Given the description of an element on the screen output the (x, y) to click on. 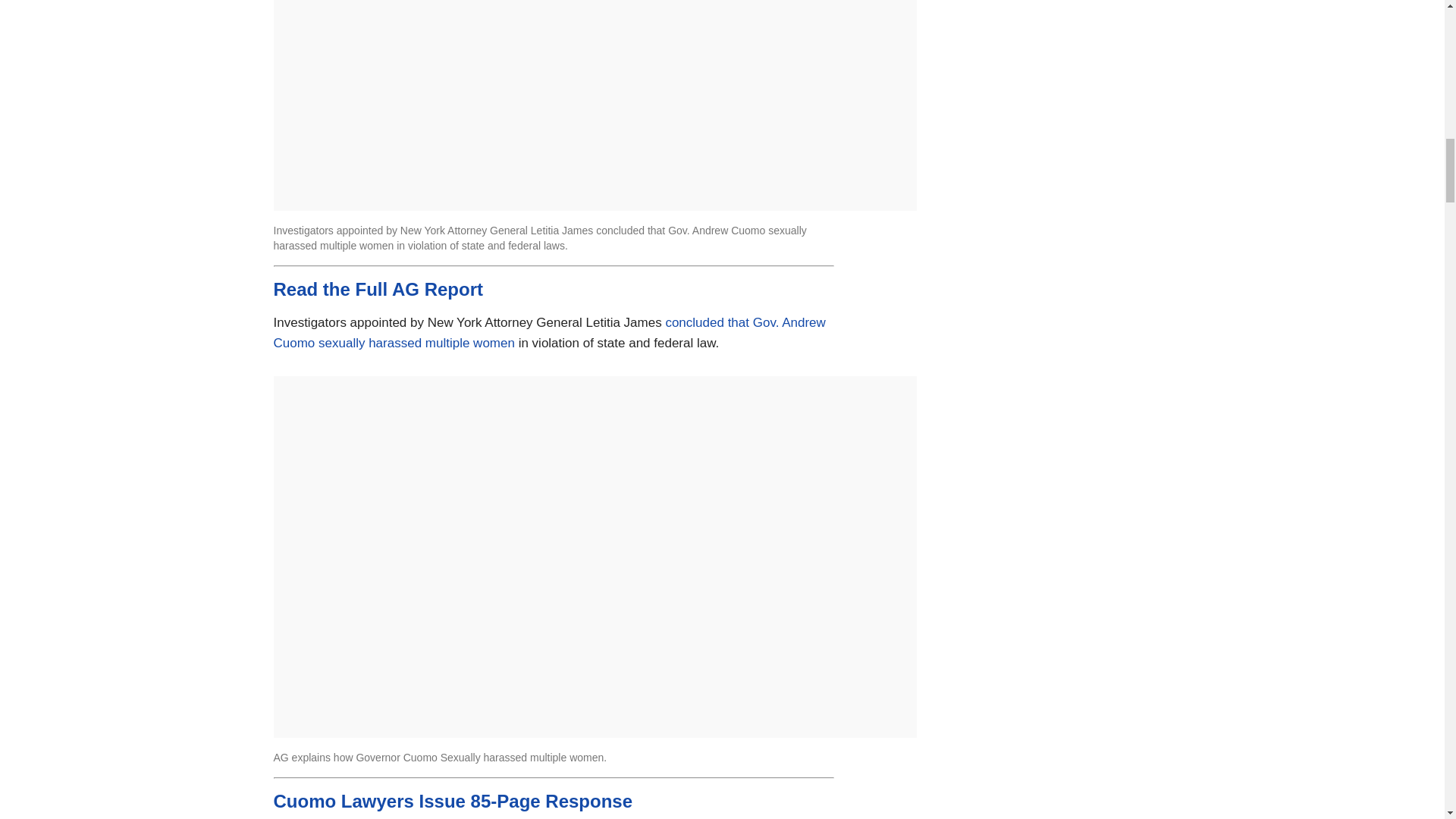
Read the Full AG Report (377, 289)
Cuomo Lawyers Issue 85-Page Response (452, 801)
